Given the description of an element on the screen output the (x, y) to click on. 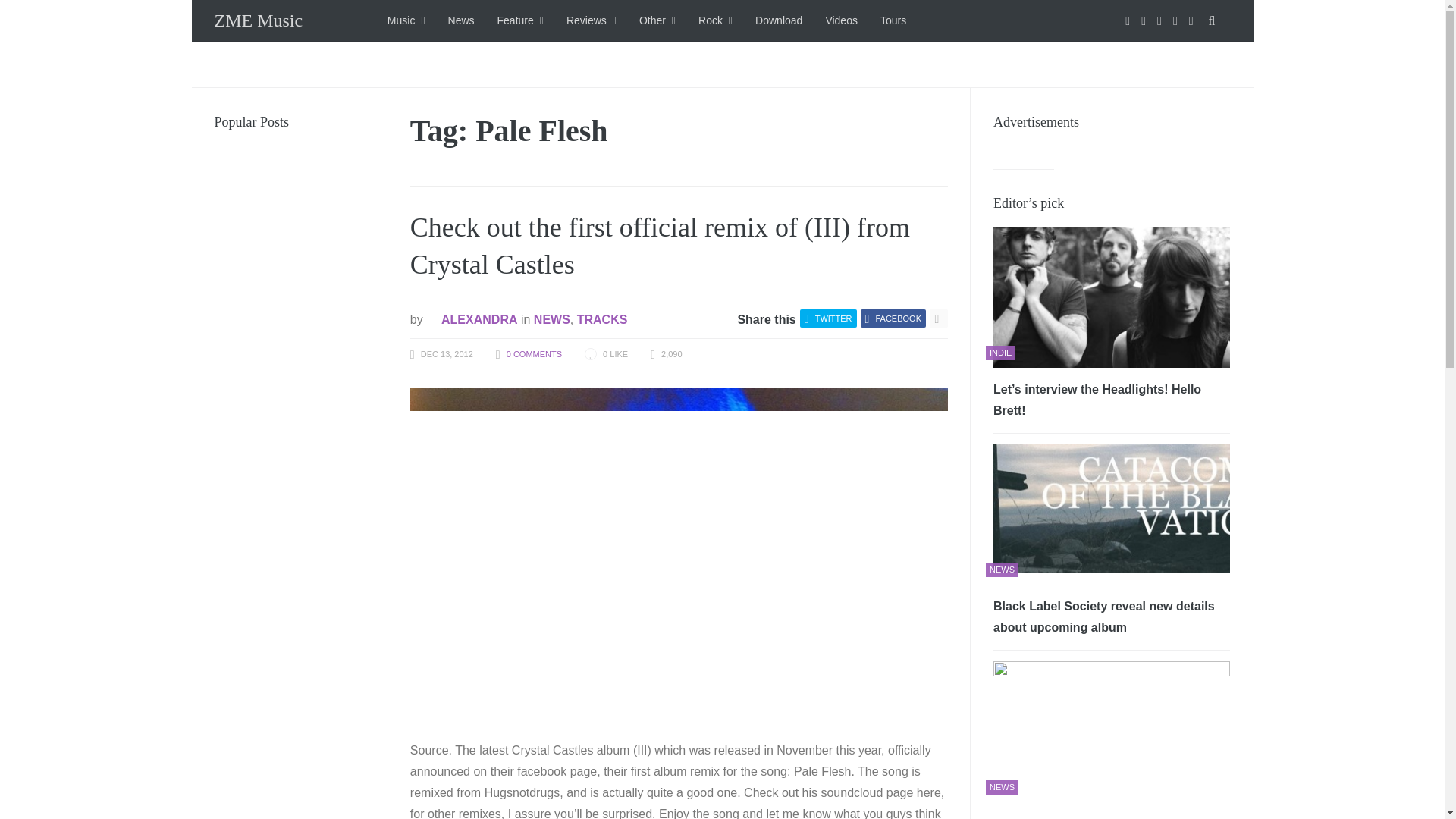
ZME Music (258, 20)
ZME Music (258, 20)
Music (406, 20)
